Given the description of an element on the screen output the (x, y) to click on. 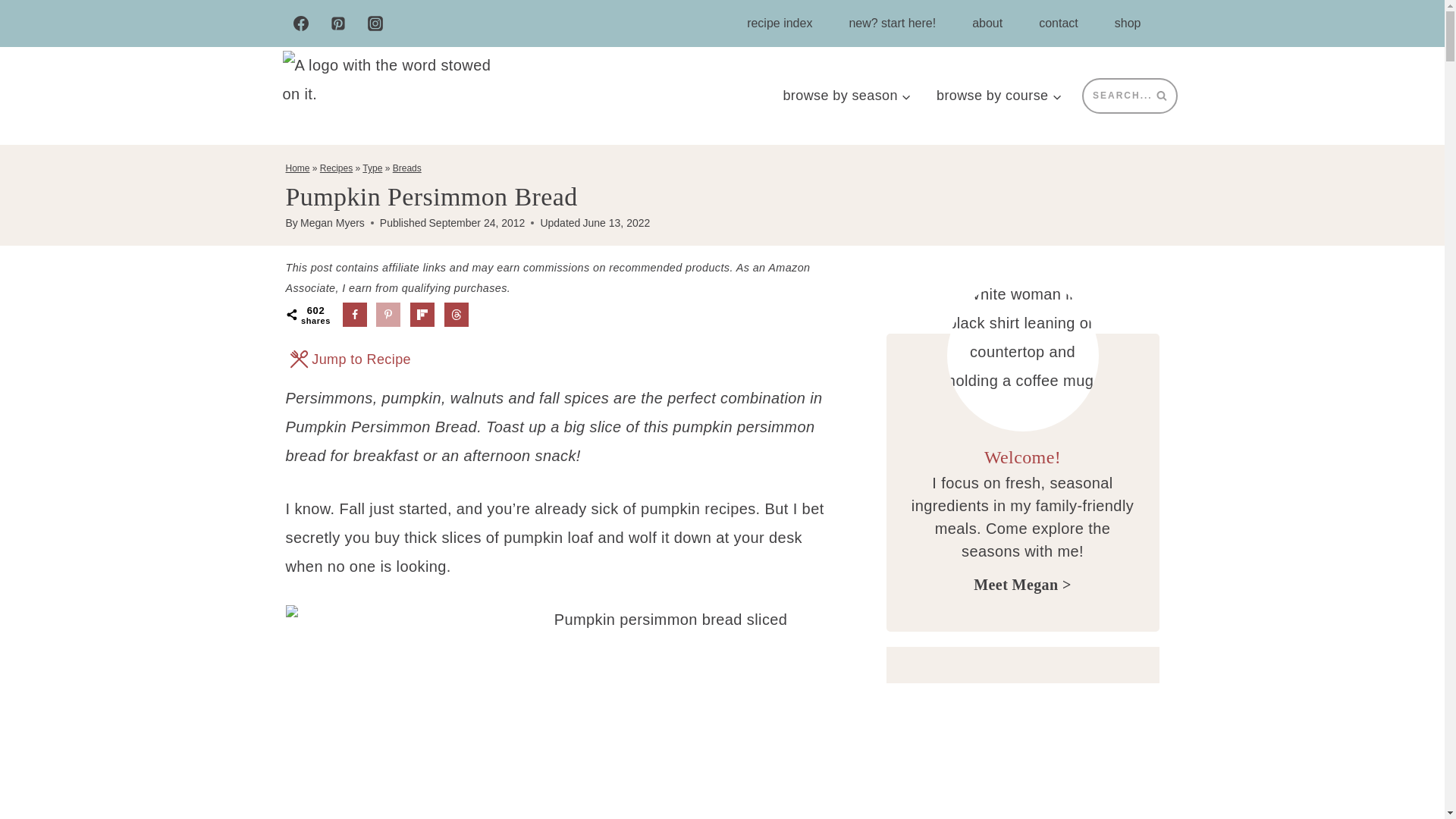
Megan Myers (332, 223)
Breads (407, 167)
contact (1058, 23)
new? start here! (891, 23)
shop (1127, 23)
SEARCH... (1128, 95)
Home (296, 167)
Jump to Recipe (349, 359)
Save to Pinterest (387, 314)
Share on Flipboard (421, 314)
Type (371, 167)
Share on Facebook (354, 314)
recipe index (779, 23)
about (986, 23)
browse by season (847, 95)
